Given the description of an element on the screen output the (x, y) to click on. 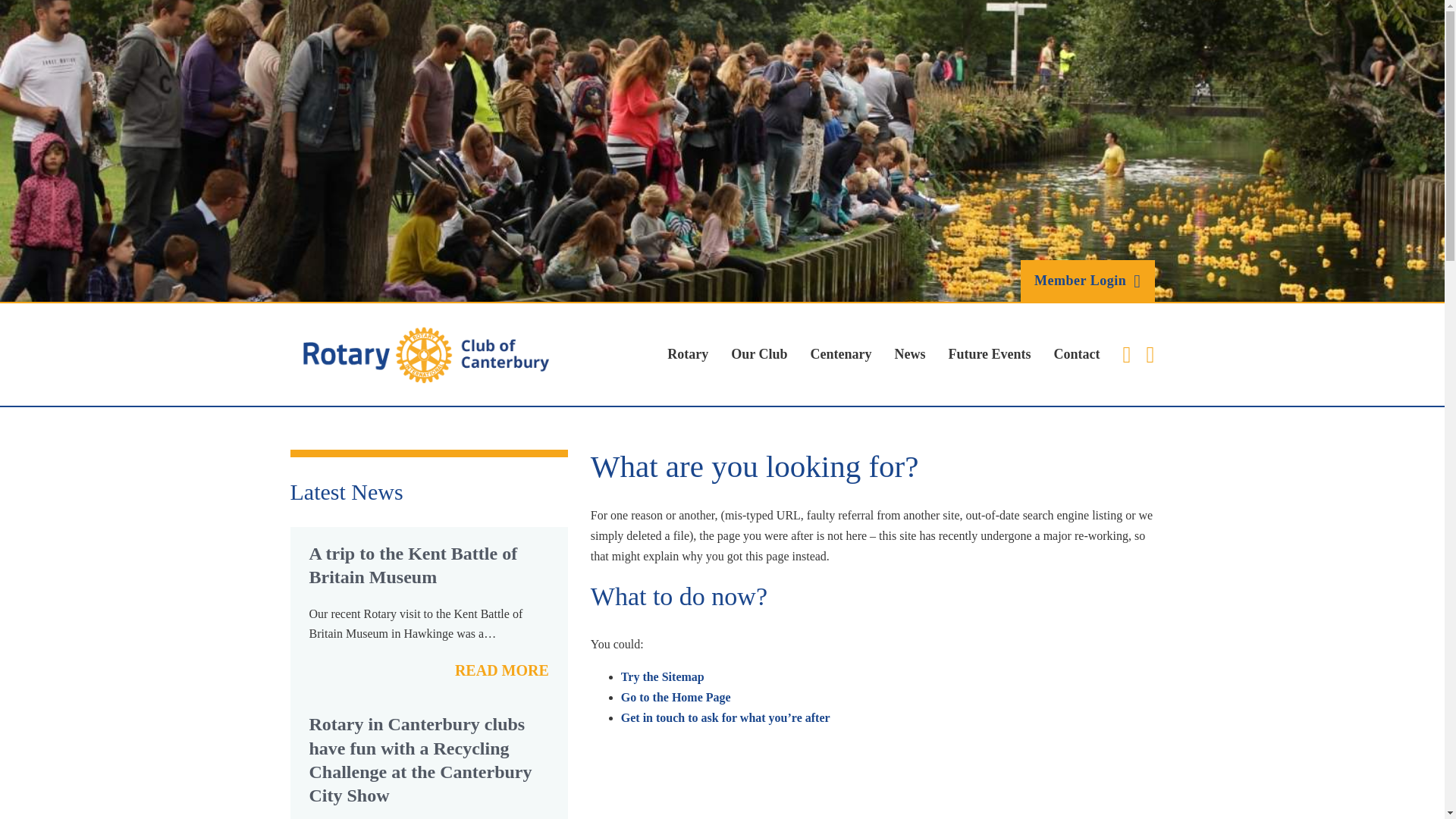
Member Login (1087, 281)
Sitemap (662, 676)
Future Events (988, 354)
A trip to the Kent Battle of Britain Museum (413, 565)
News (908, 354)
Contact (725, 717)
READ MORE (501, 669)
Contact (1077, 354)
Go to the Home Page (675, 697)
